Given the description of an element on the screen output the (x, y) to click on. 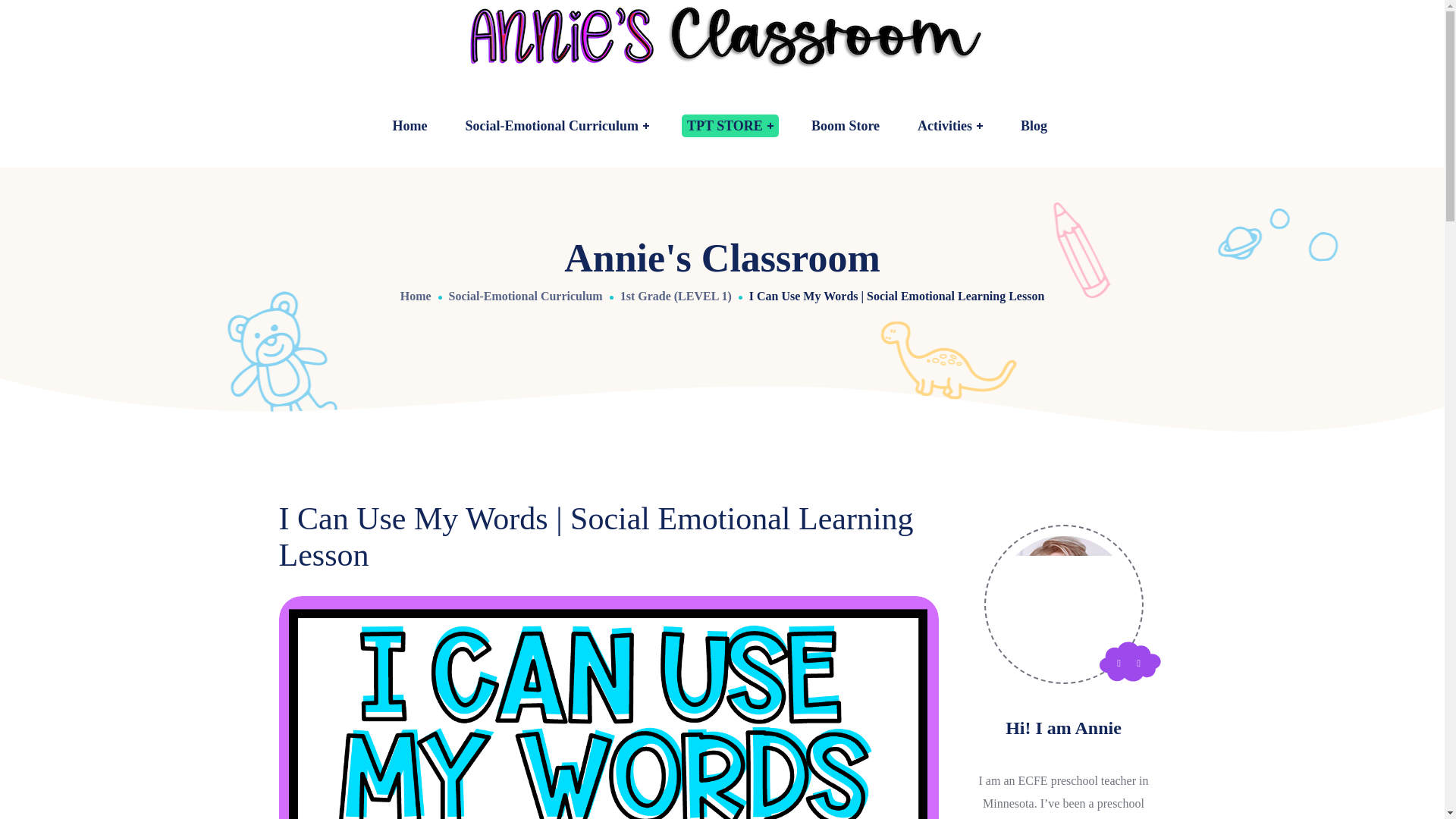
Boom Store (845, 125)
Activities (949, 125)
TPT STORE (730, 125)
Social-Emotional Curriculum (556, 125)
